Given the description of an element on the screen output the (x, y) to click on. 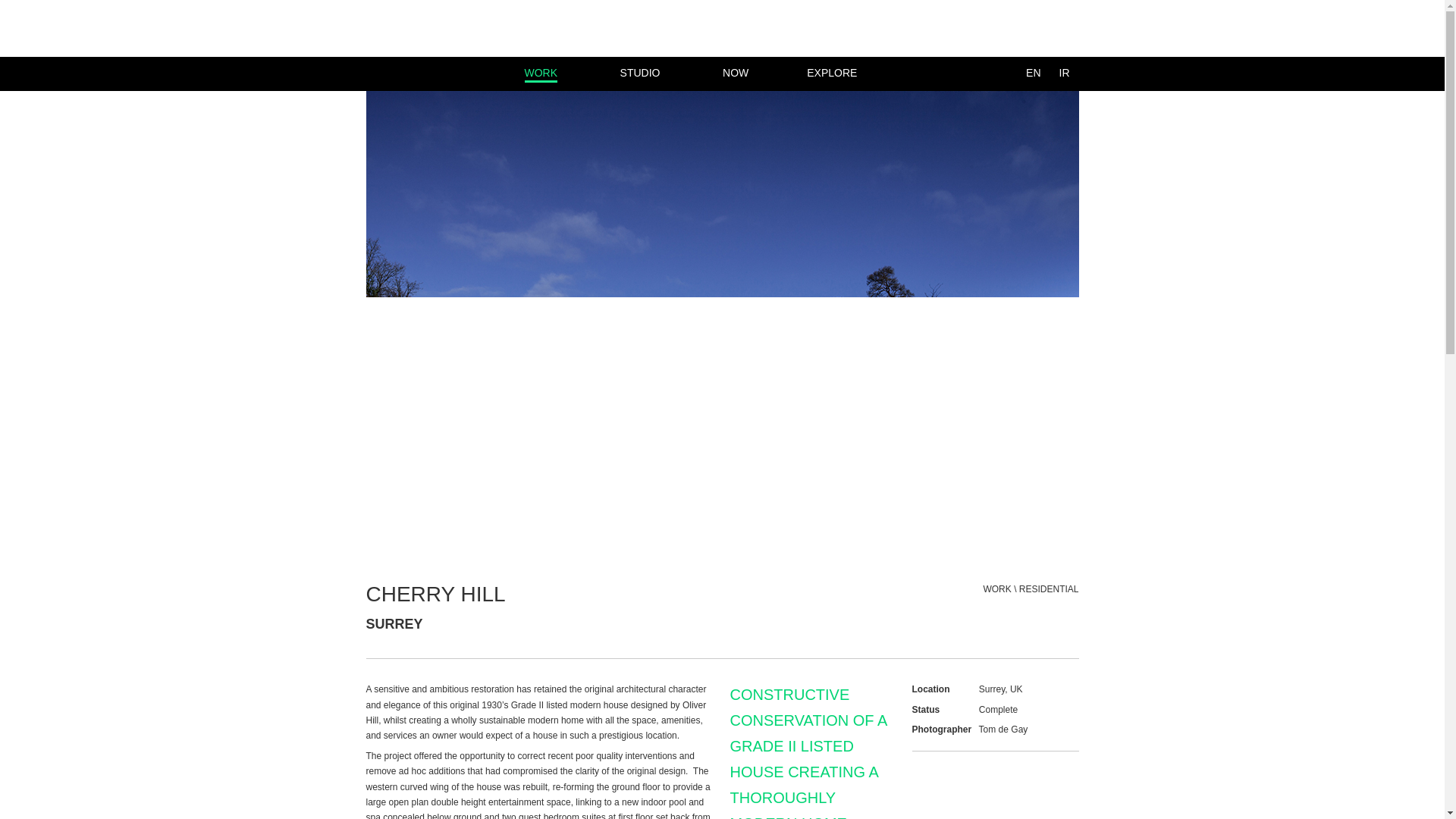
AVANTI ARCHITECTS (541, 73)
